Given the description of an element on the screen output the (x, y) to click on. 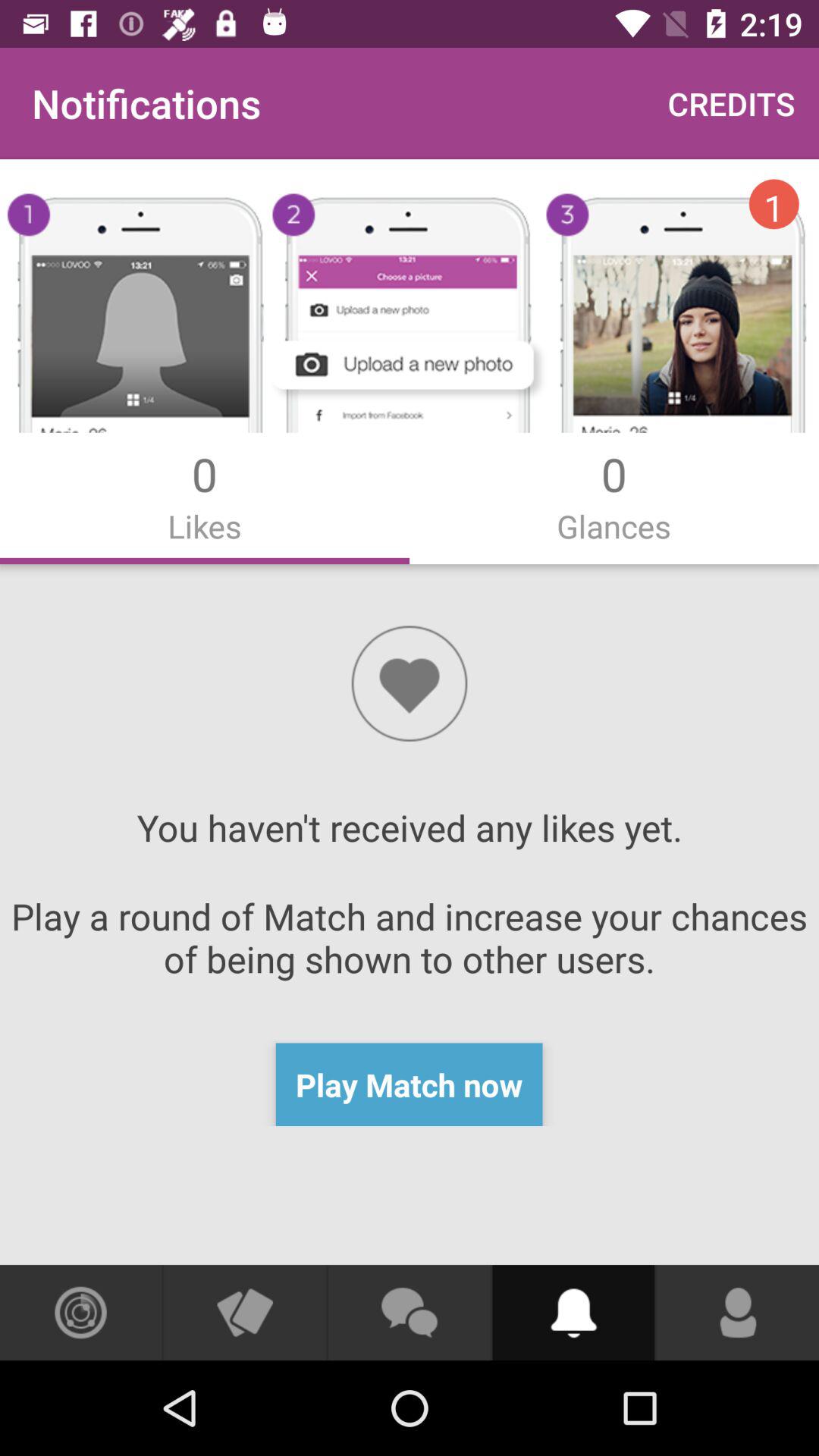
view your profile (737, 1312)
